Given the description of an element on the screen output the (x, y) to click on. 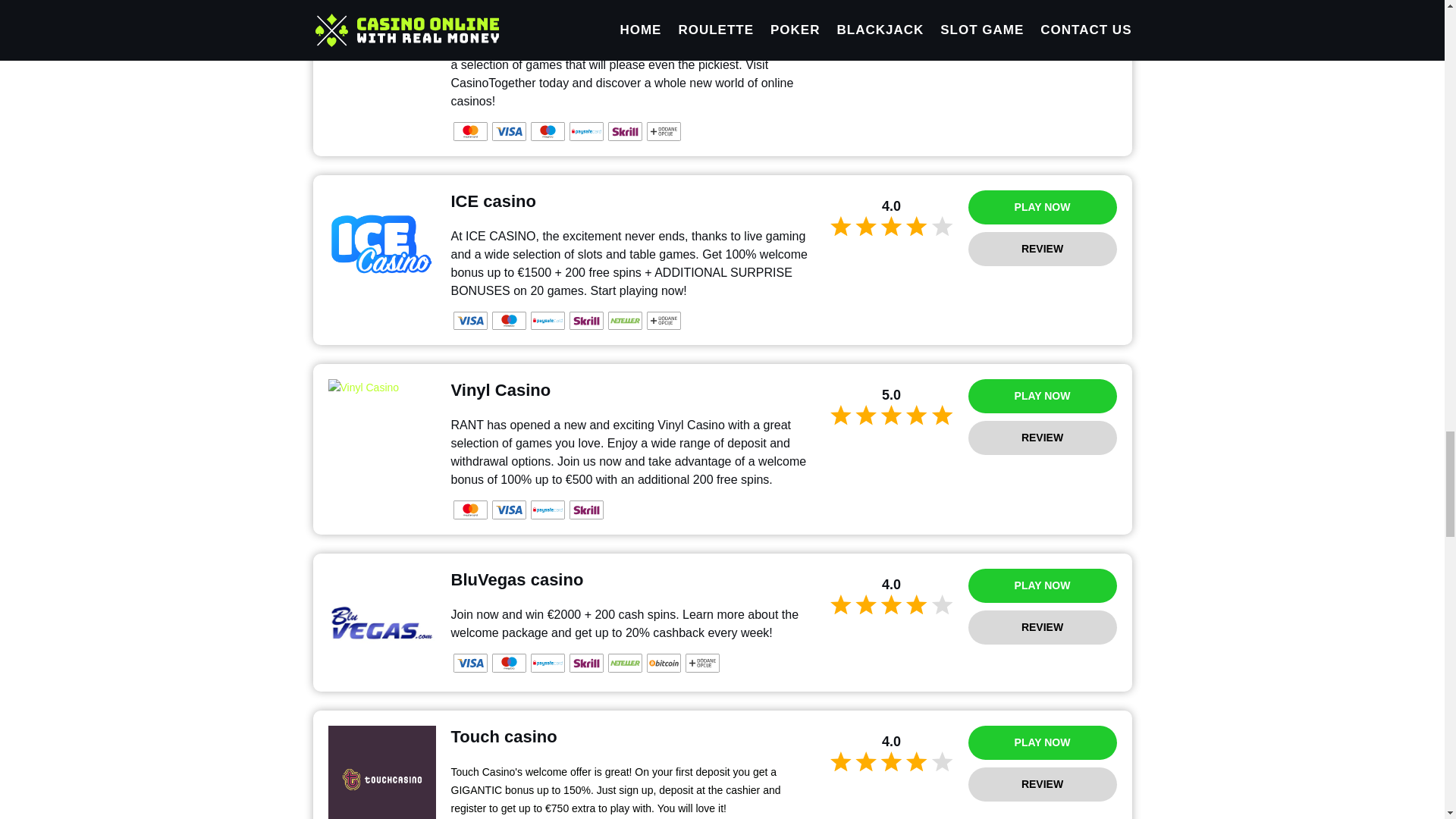
PLAY NOW (1042, 742)
PLAY NOW (1042, 396)
REVIEW (1042, 11)
REVIEW (1042, 248)
PLAY NOW (1042, 207)
REVIEW (1042, 437)
REVIEW (1042, 627)
REVIEW (1042, 784)
PLAY NOW (1042, 585)
